Given the description of an element on the screen output the (x, y) to click on. 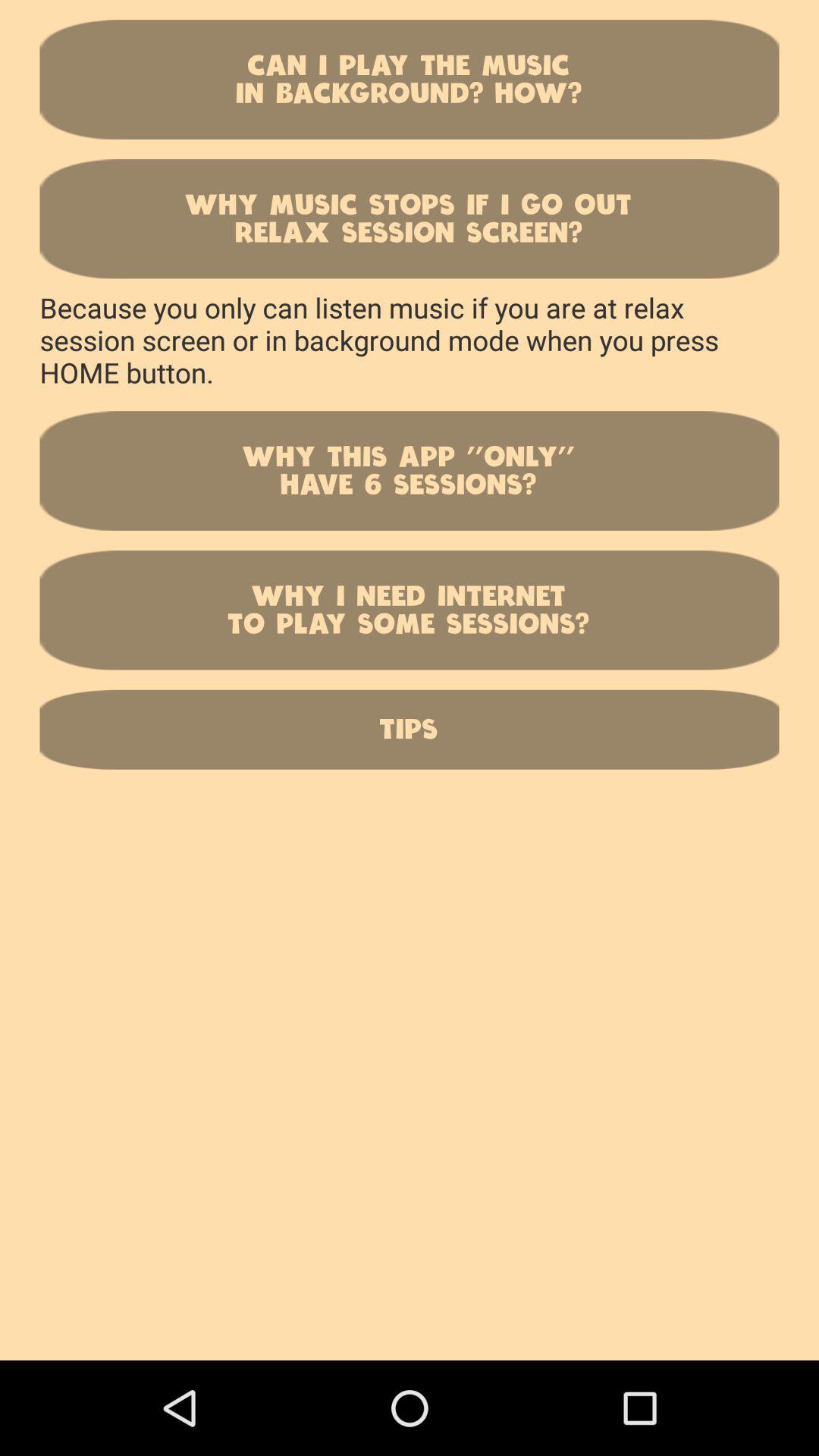
scroll until the why music stops item (409, 218)
